Given the description of an element on the screen output the (x, y) to click on. 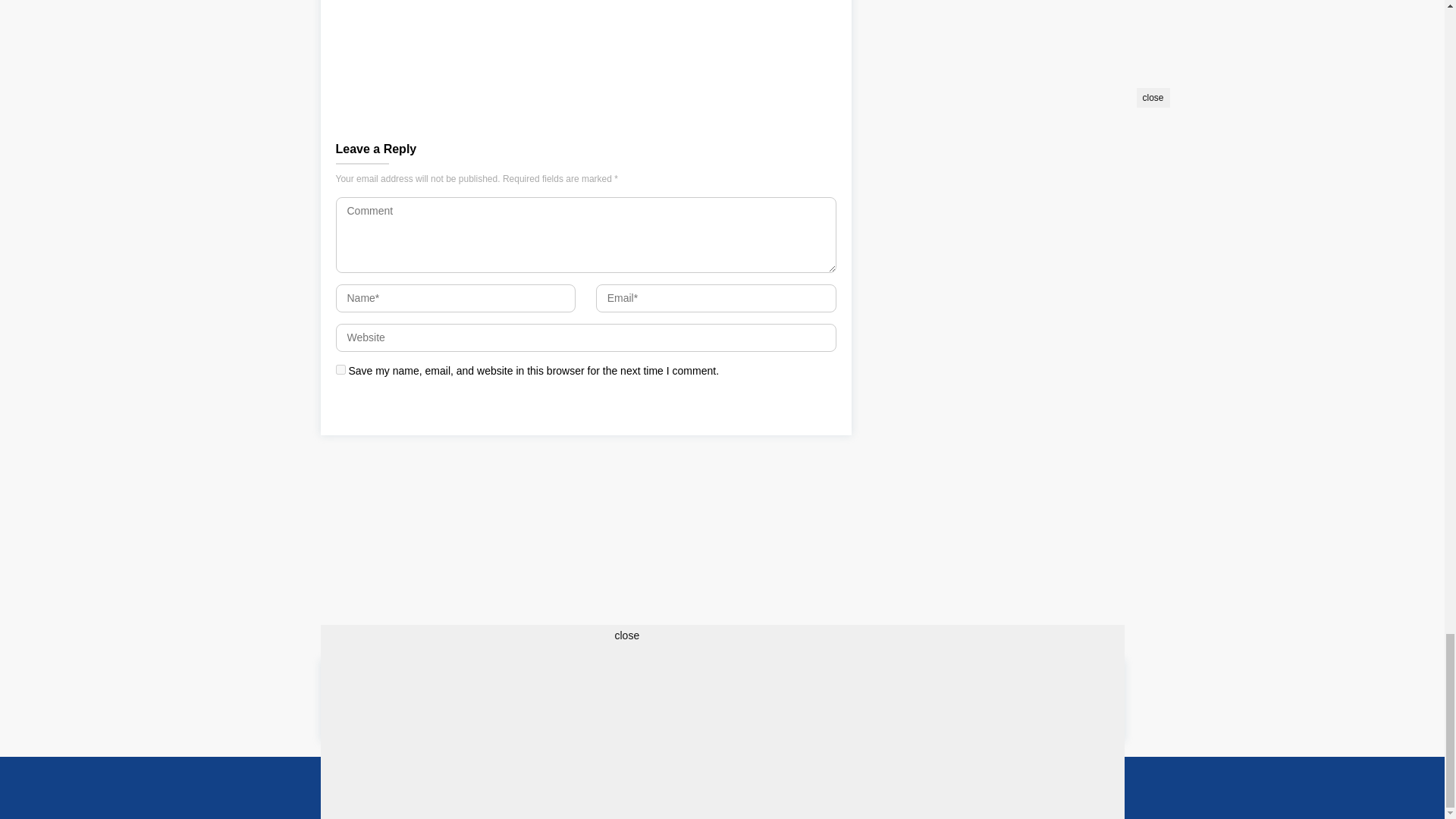
yes (339, 369)
Post Comment (381, 405)
